Given the description of an element on the screen output the (x, y) to click on. 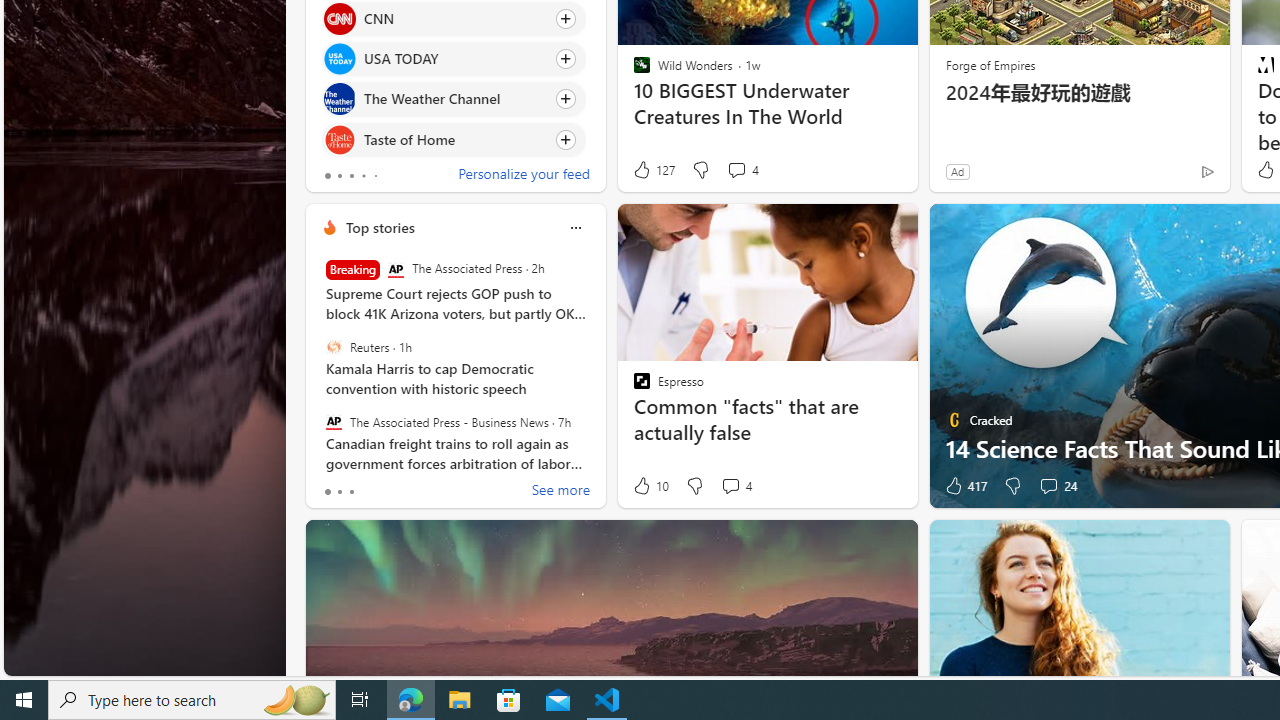
tab-0 (327, 491)
tab-1 (338, 491)
tab-3 (363, 175)
Click to follow source CNN (453, 18)
tab-4 (374, 175)
View comments 4 Comment (730, 485)
